Given the description of an element on the screen output the (x, y) to click on. 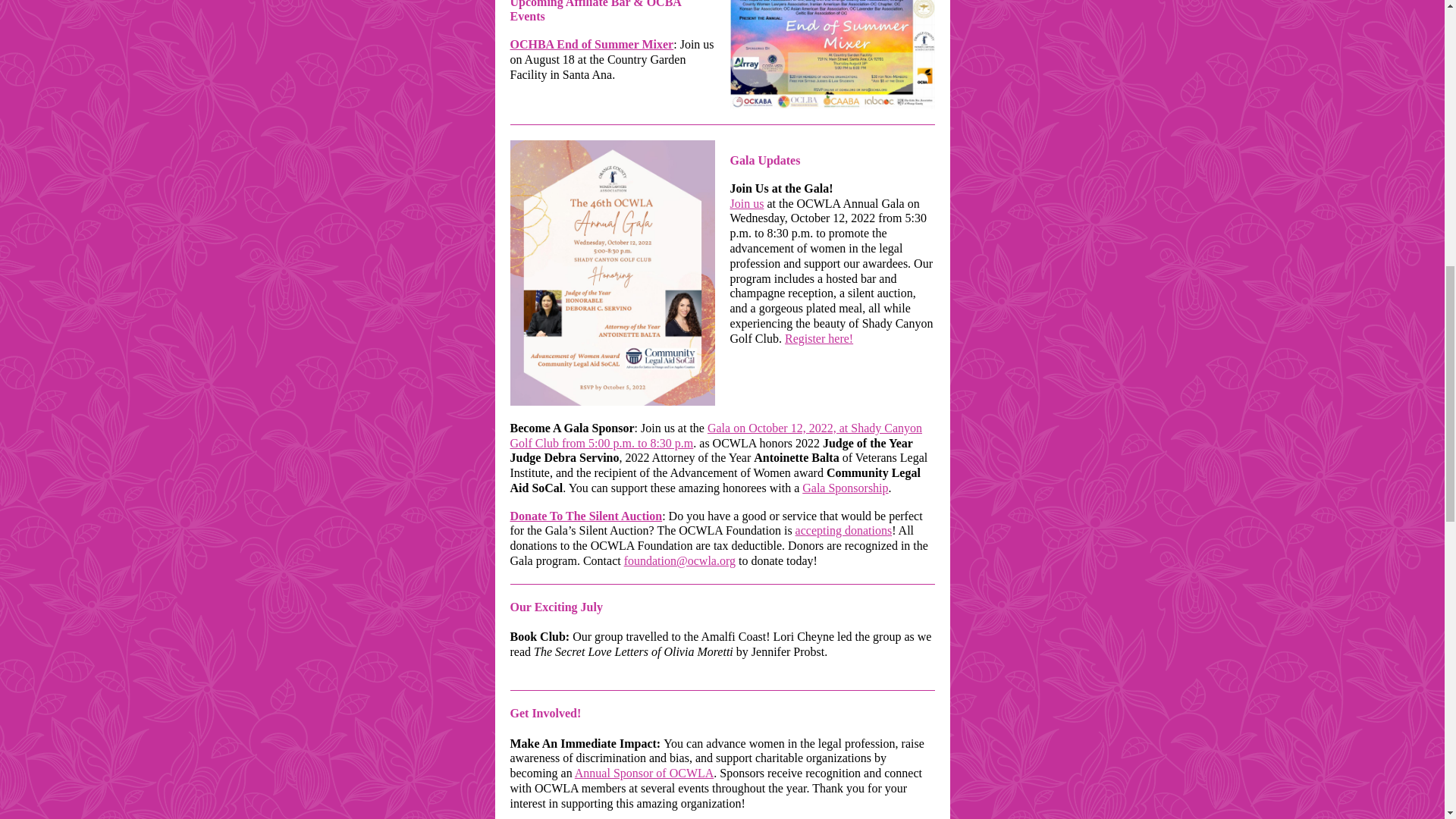
Join us (745, 203)
Annual Sponsor of OCWLA (644, 772)
accepting donations (843, 530)
Gala Sponsorship (845, 487)
Donate To The Silent Auction (585, 515)
Register here! (818, 338)
OCHBA End of Summer Mixer (590, 43)
